Given the description of an element on the screen output the (x, y) to click on. 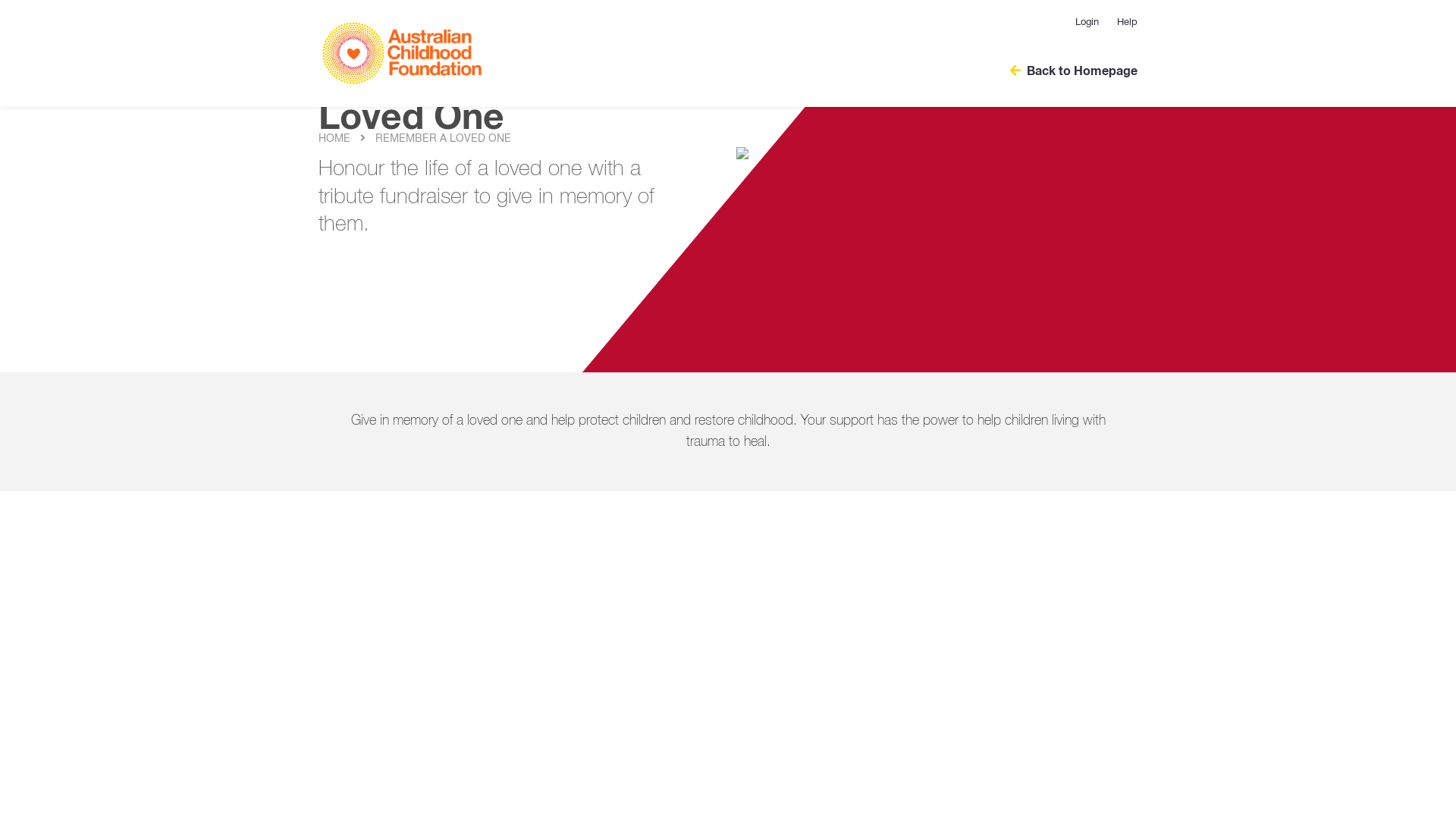
 Back to Homepage Element type: text (1065, 71)
REMEMBER A LOVED ONE Element type: text (442, 138)
HOME Element type: text (334, 138)
Help Element type: text (1122, 22)
Login Element type: text (1086, 22)
